Given the description of an element on the screen output the (x, y) to click on. 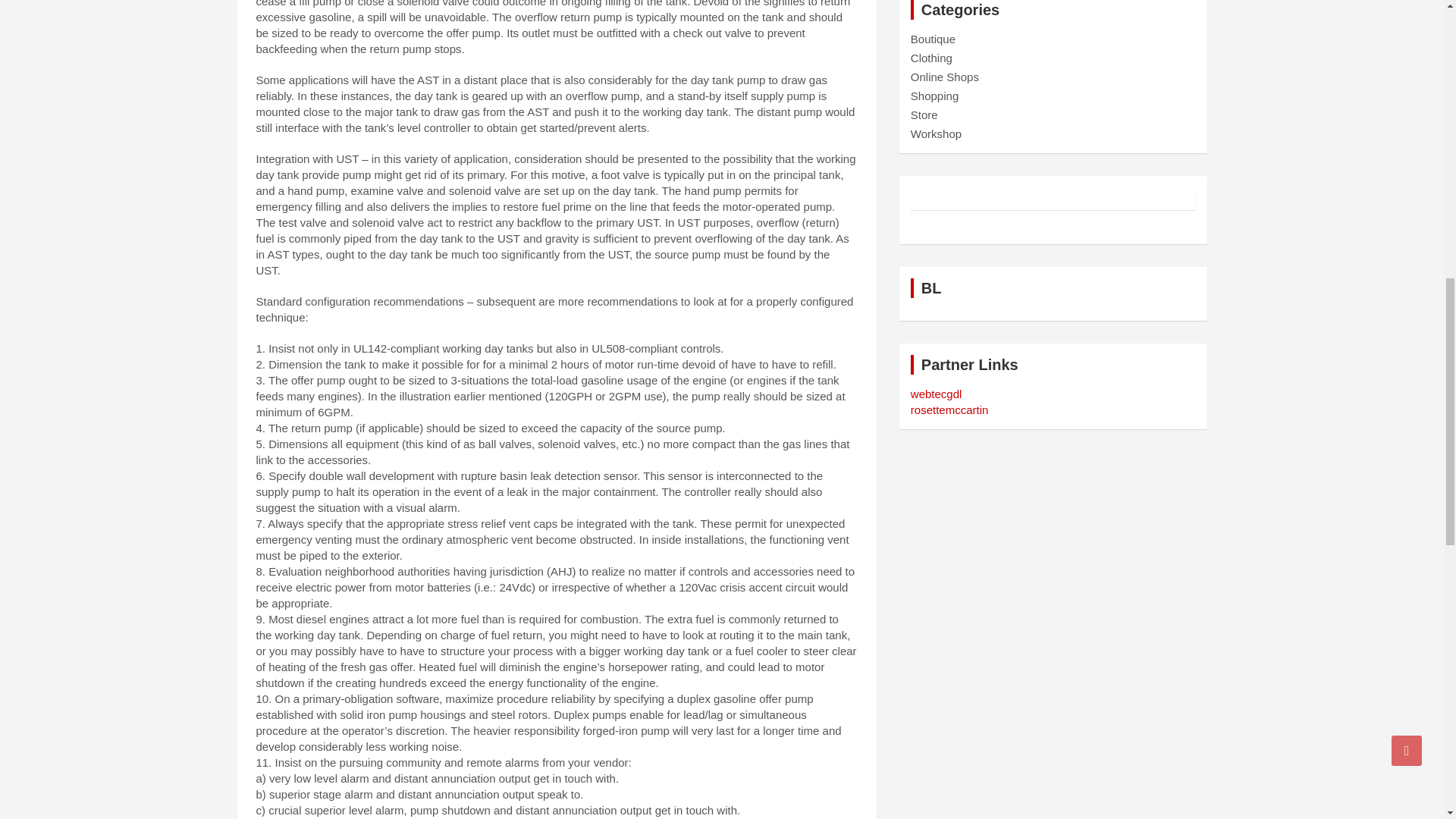
Shopping (934, 95)
rosettemccartin (949, 409)
Workshop (935, 133)
Clothing (931, 57)
Boutique (933, 38)
Store (924, 114)
Online Shops (944, 76)
webtecgdl (936, 393)
